Given the description of an element on the screen output the (x, y) to click on. 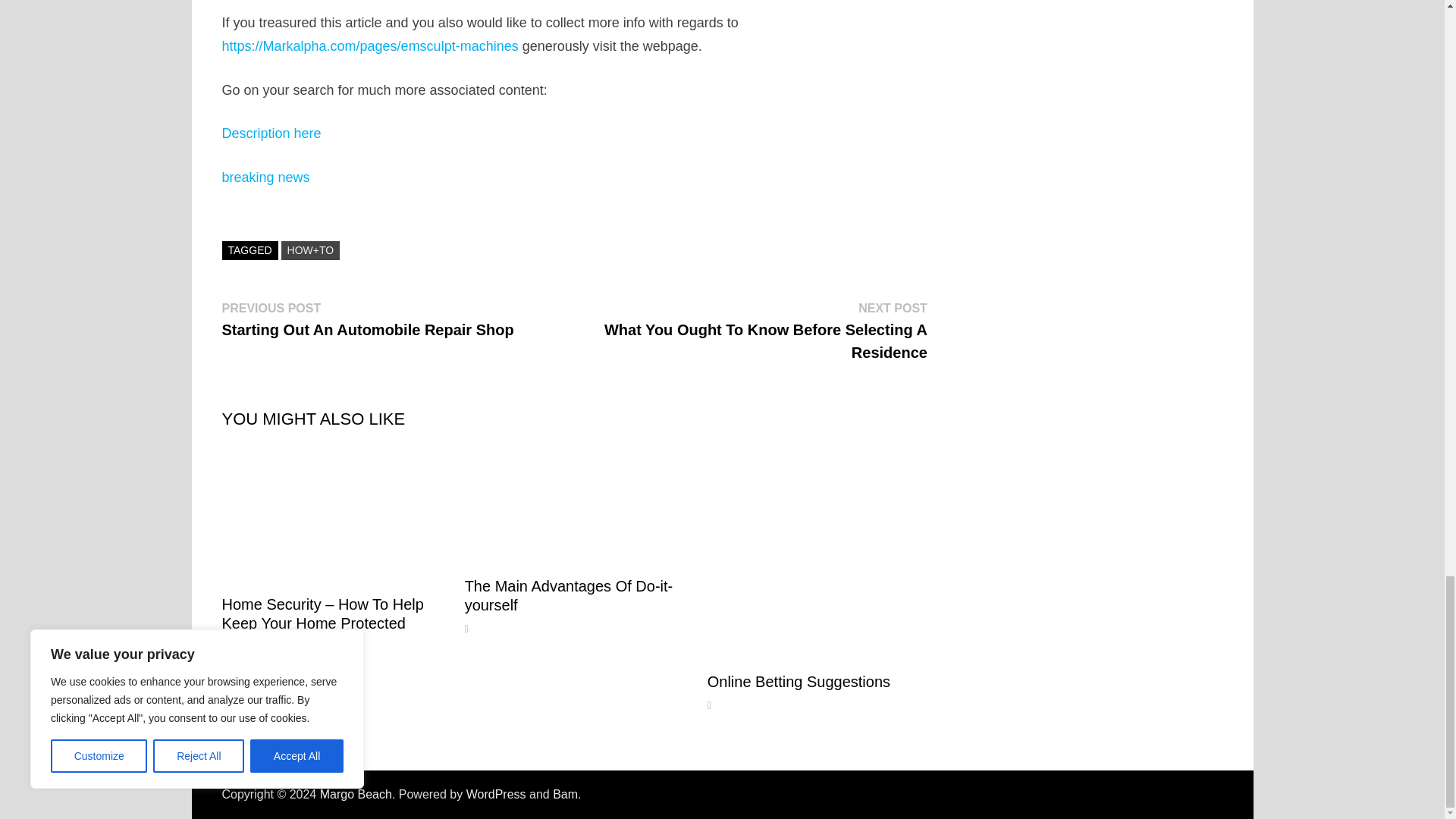
The Main Advantages Of Do-it-yourself (568, 595)
Margo Beach (355, 793)
breaking news (264, 177)
Description here (270, 133)
Online Betting Suggestions (798, 681)
The Main Advantages Of Do-it-yourself (568, 595)
